Given the description of an element on the screen output the (x, y) to click on. 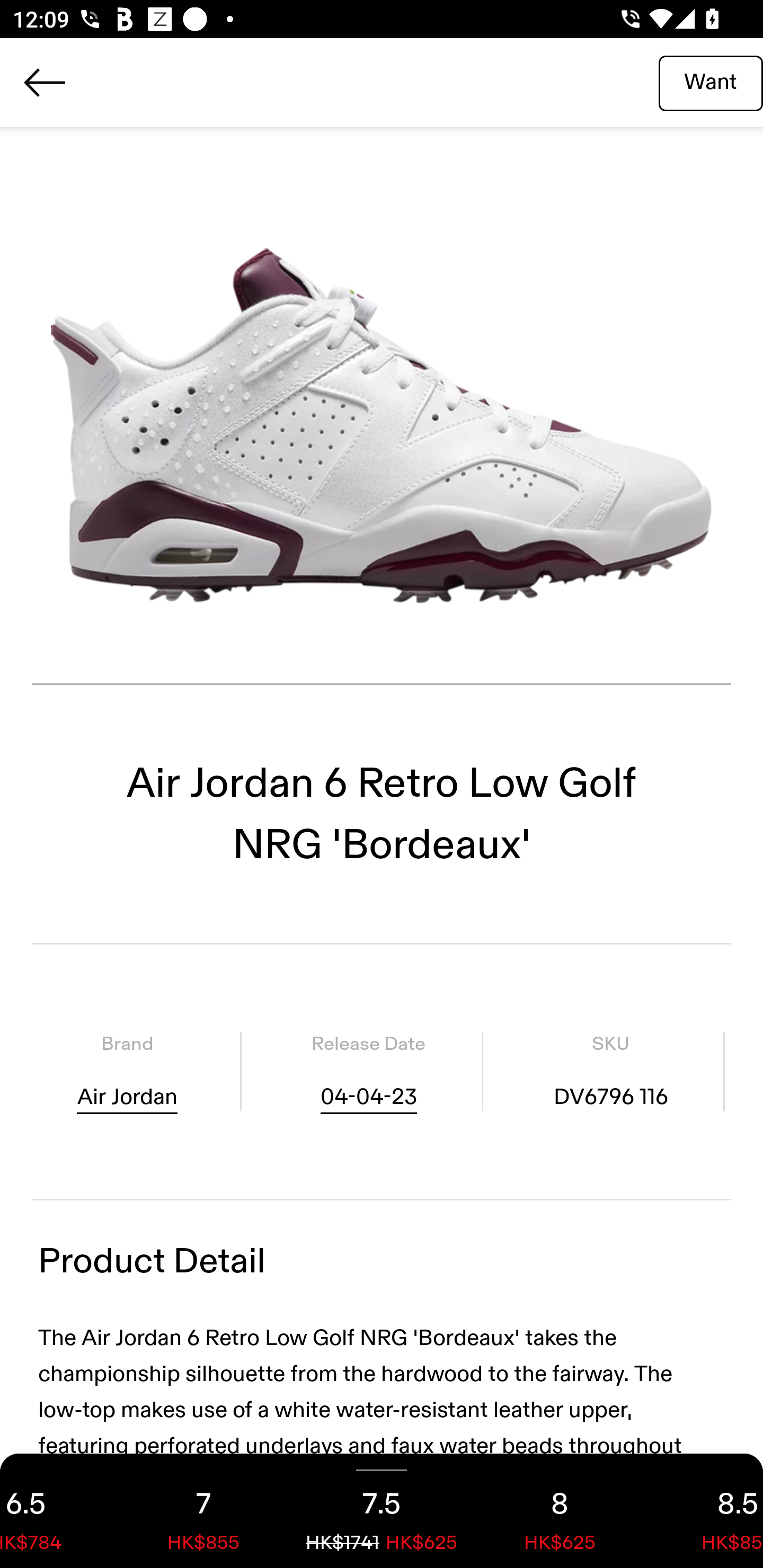
Want (710, 82)
Brand Air Jordan (126, 1070)
Release Date 04-04-23 (368, 1070)
SKU DV6796 116 (609, 1070)
6.5 HK$784 (57, 1510)
7 HK$855 (203, 1510)
7.5 HK$1741 HK$625 (381, 1510)
8 HK$625 (559, 1510)
8.5 HK$855 (705, 1510)
